Given the description of an element on the screen output the (x, y) to click on. 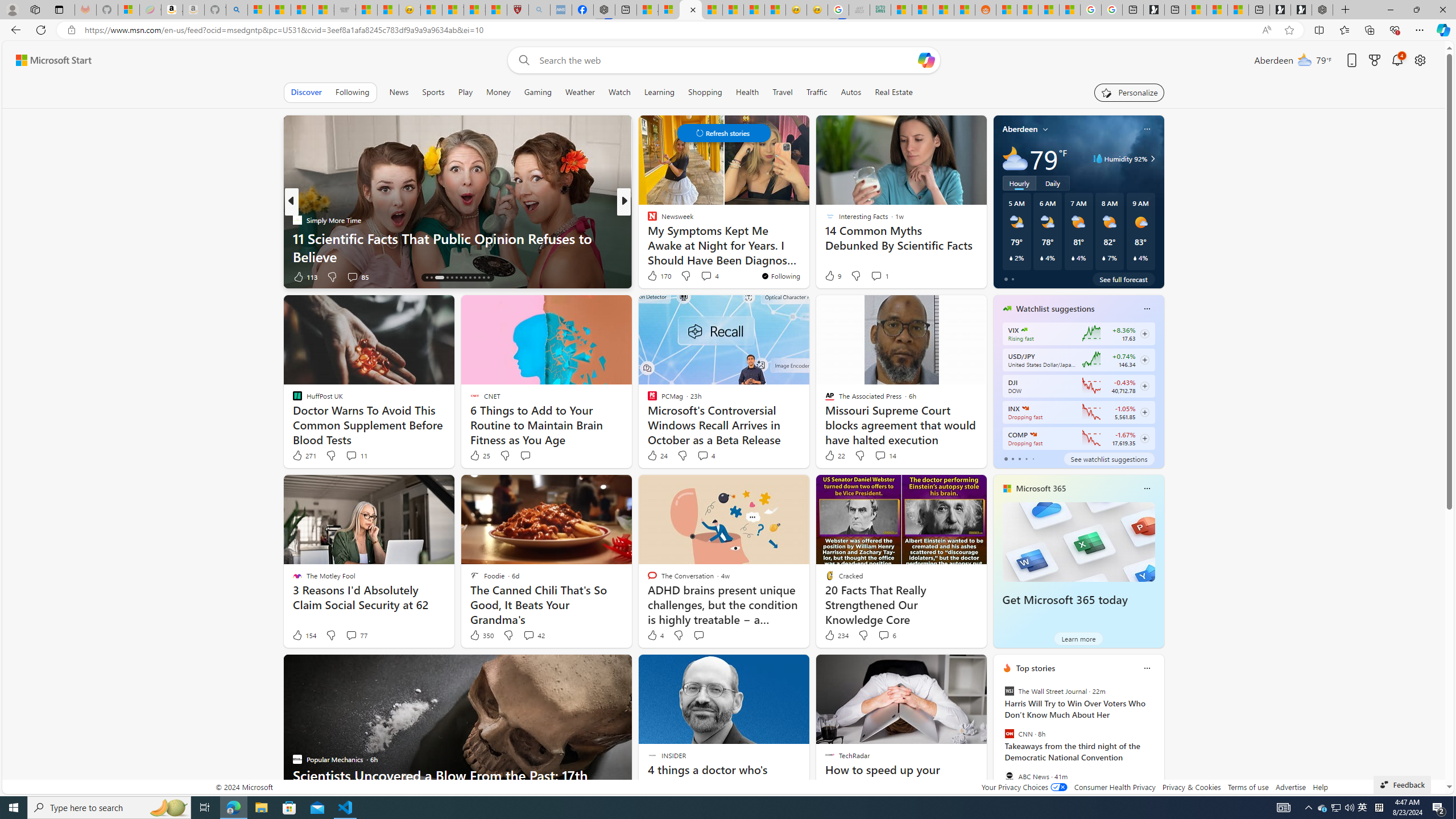
View comments 34 Comment (703, 276)
CNN (1008, 733)
3k Like (652, 276)
View comments 5 Comment (702, 276)
9 Like (831, 275)
